Given the description of an element on the screen output the (x, y) to click on. 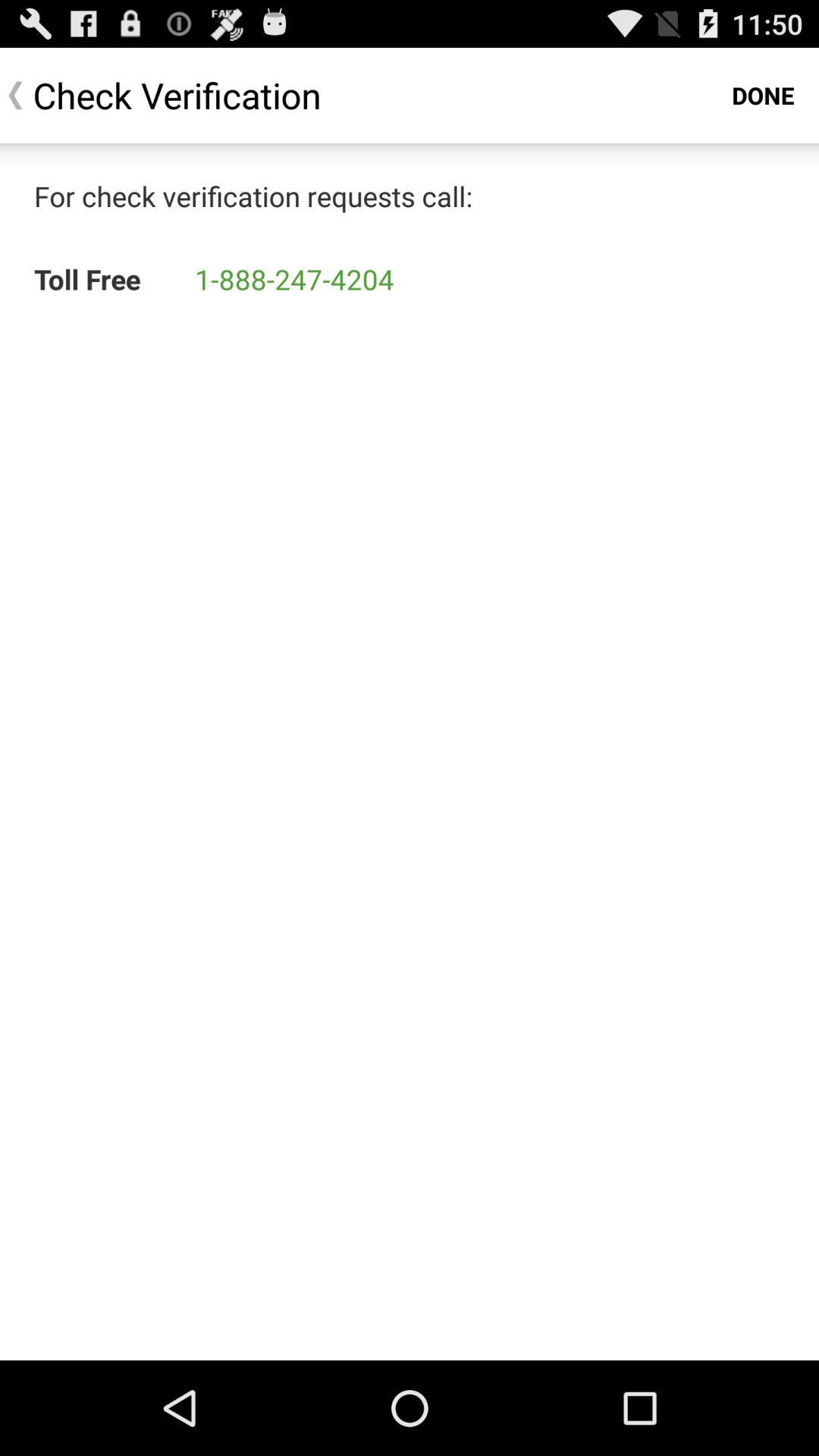
scroll until the done (763, 95)
